Given the description of an element on the screen output the (x, y) to click on. 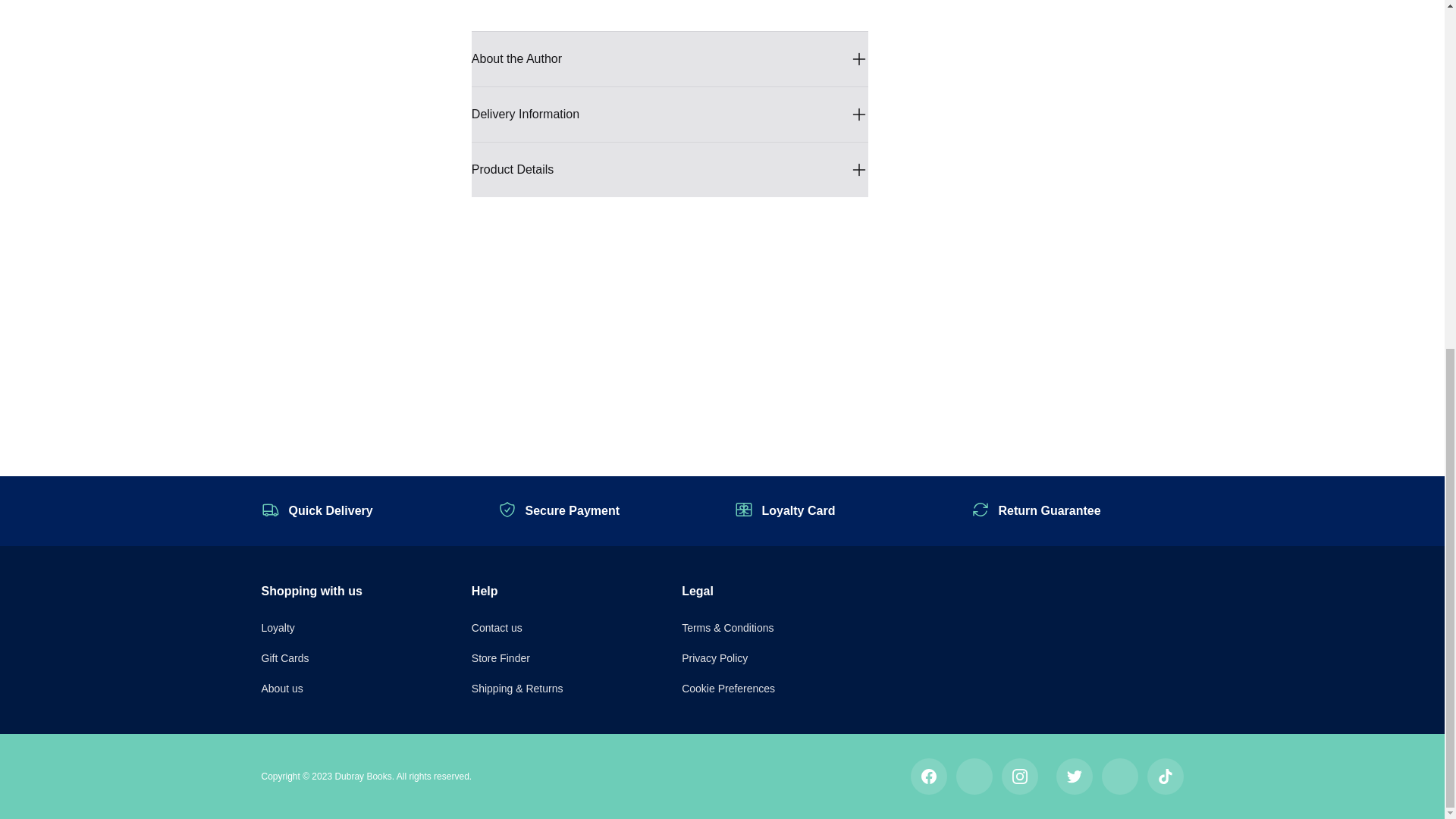
About the Author (669, 58)
Delivery Information (669, 113)
Contact us (496, 627)
Cookie Preferences (727, 688)
Gift Cards (284, 657)
Store Finder (500, 657)
Privacy Policy (714, 657)
Product Details (669, 169)
About us (281, 688)
Loyalty (277, 627)
